Given the description of an element on the screen output the (x, y) to click on. 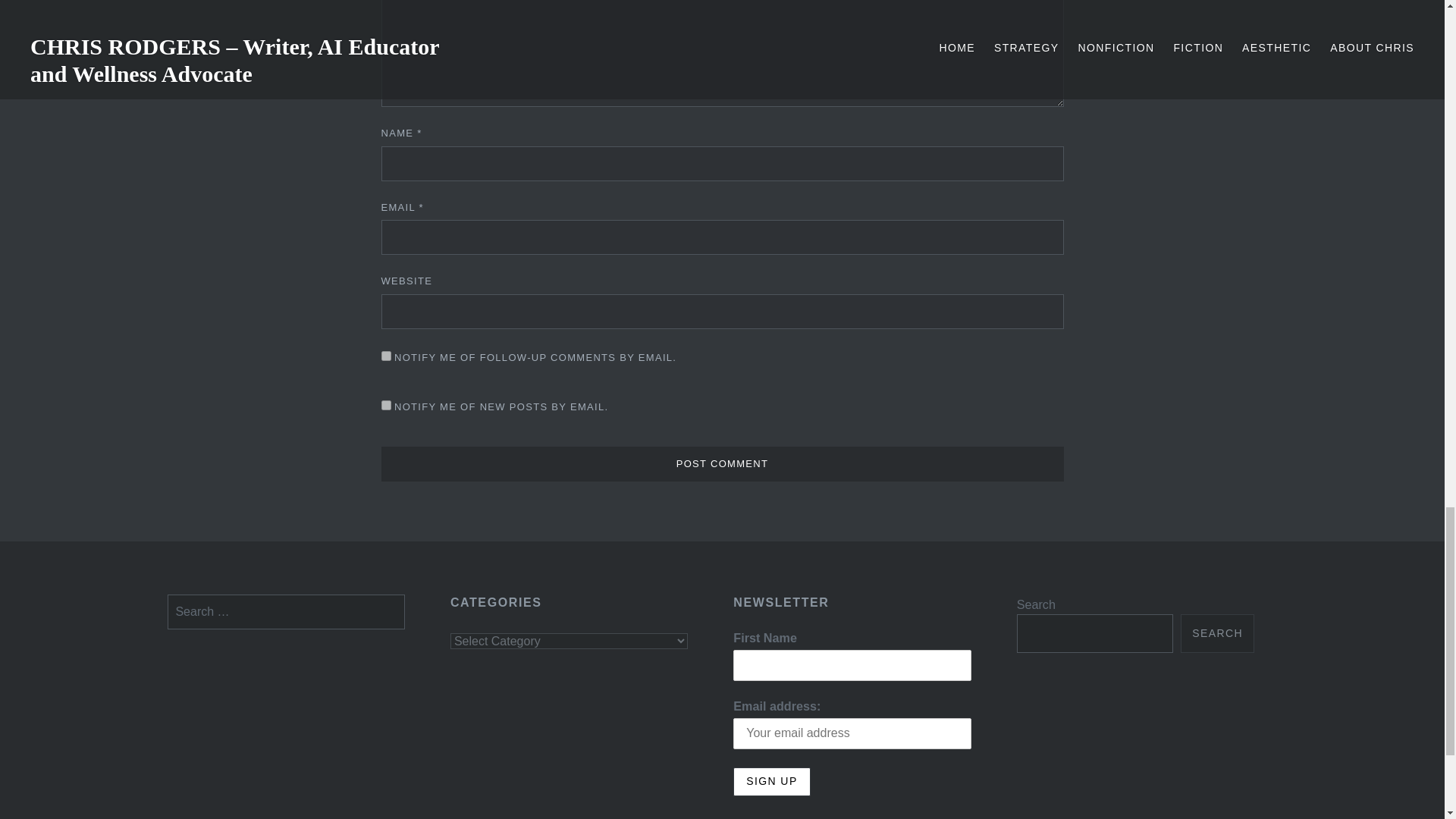
subscribe (385, 405)
subscribe (385, 356)
Post Comment (721, 463)
Sign up (771, 781)
